Given the description of an element on the screen output the (x, y) to click on. 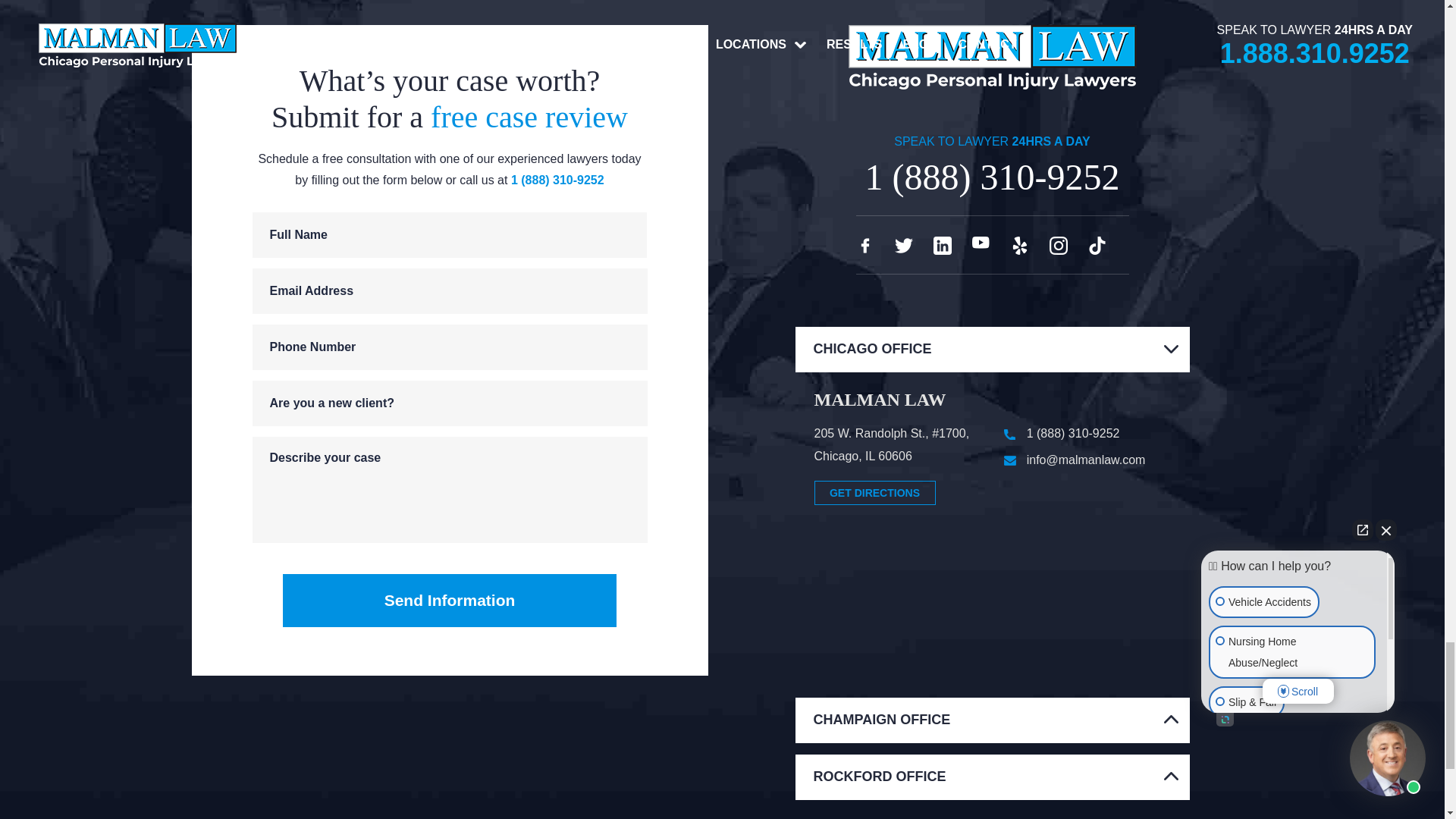
Chicago personal injury lawyer near me   (991, 610)
Send Information (448, 600)
